Given the description of an element on the screen output the (x, y) to click on. 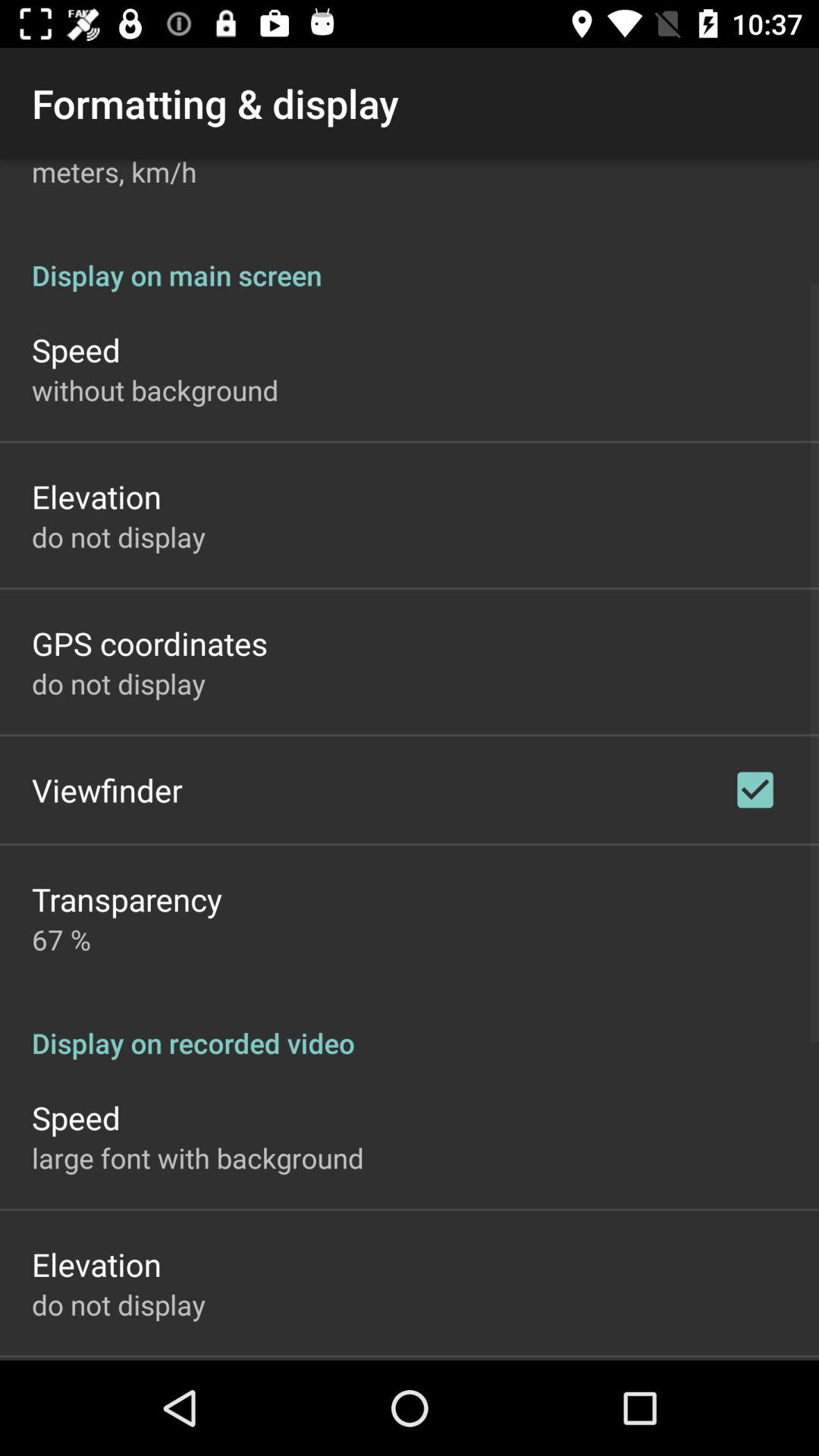
scroll until the transparency (126, 898)
